Given the description of an element on the screen output the (x, y) to click on. 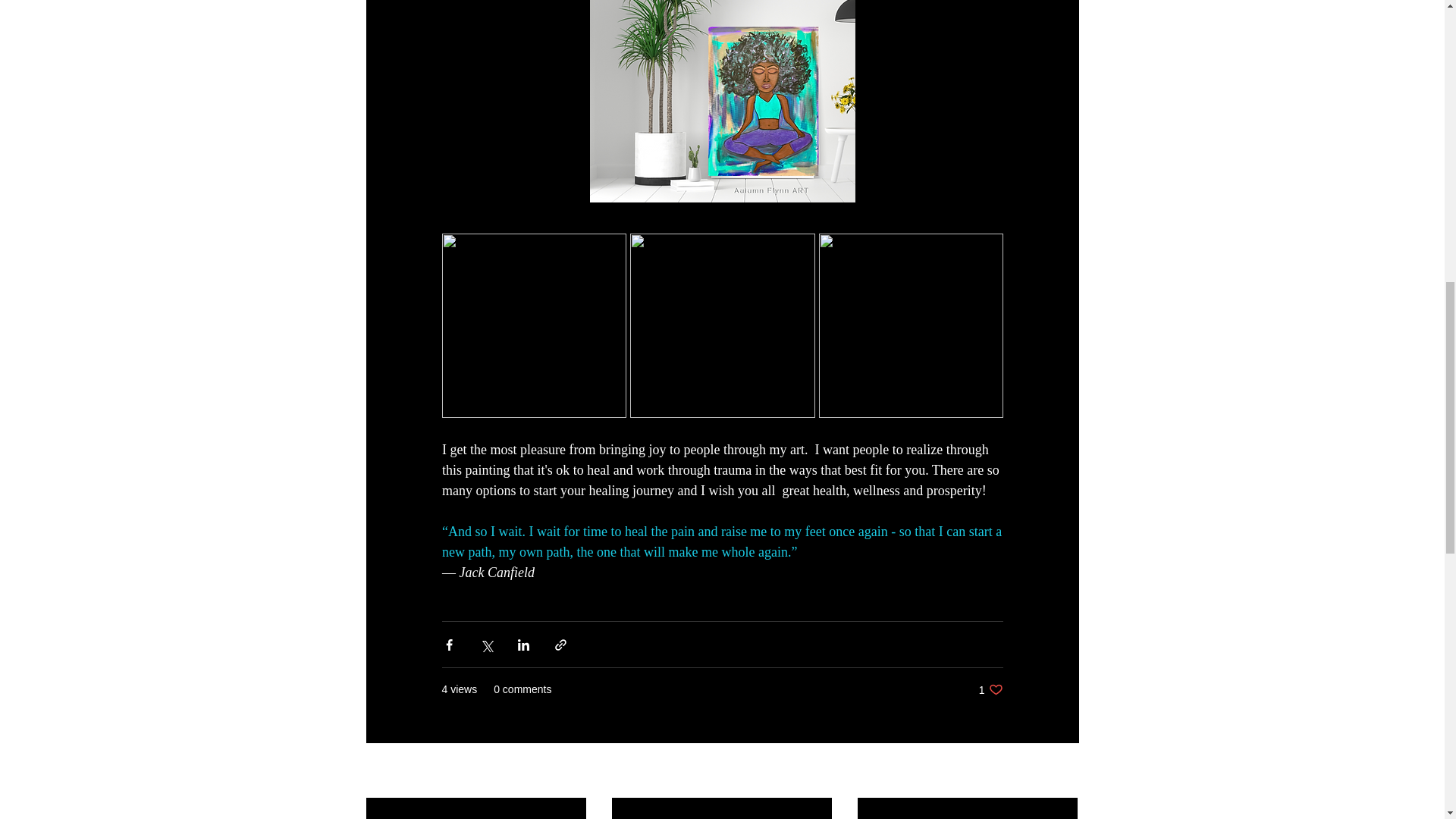
See All (990, 689)
